Given the description of an element on the screen output the (x, y) to click on. 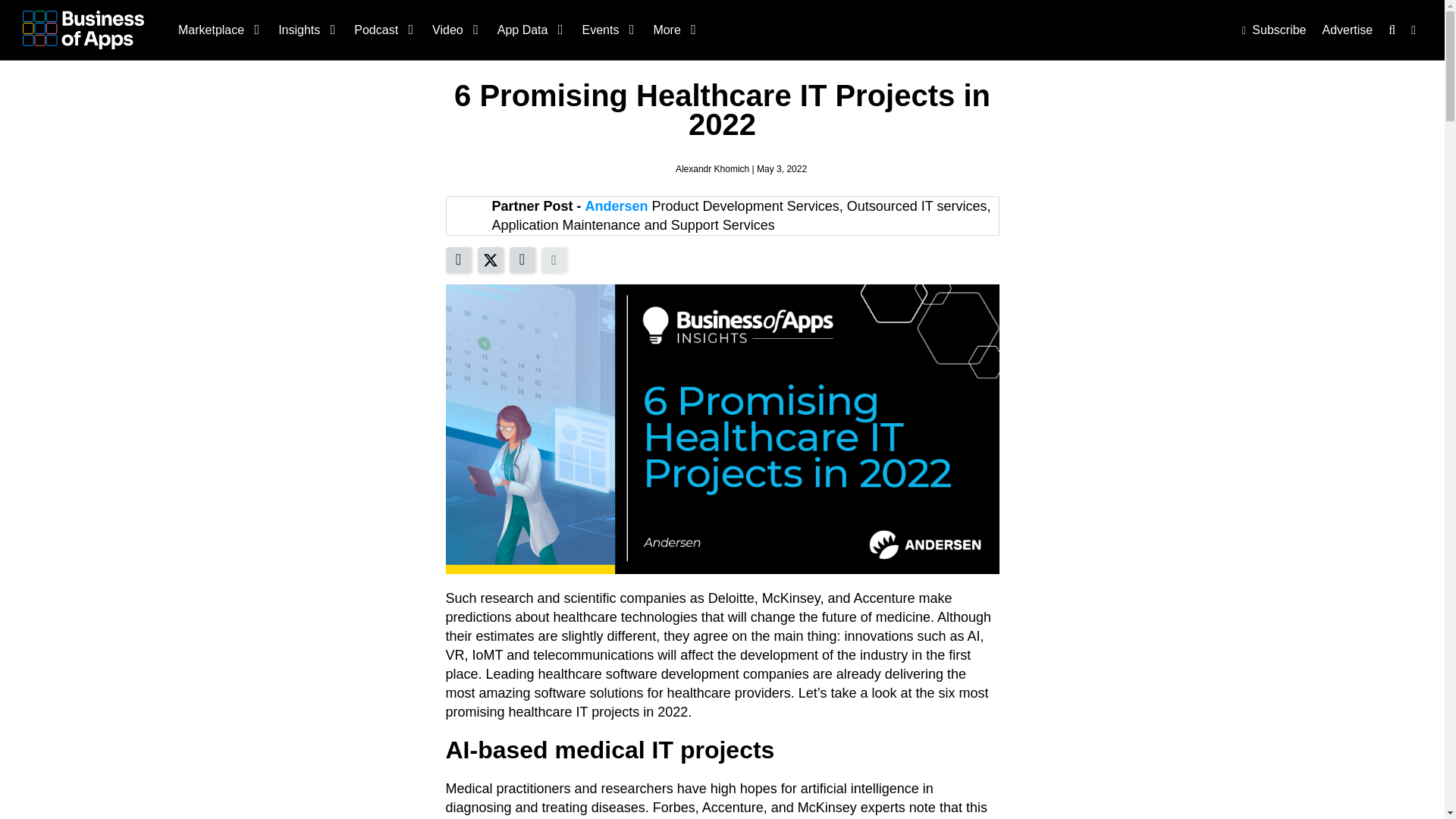
Share this page through email (522, 259)
Marketplace (216, 29)
Share this page on Twitter (490, 259)
Share this page on LinkedIn (458, 259)
